Given the description of an element on the screen output the (x, y) to click on. 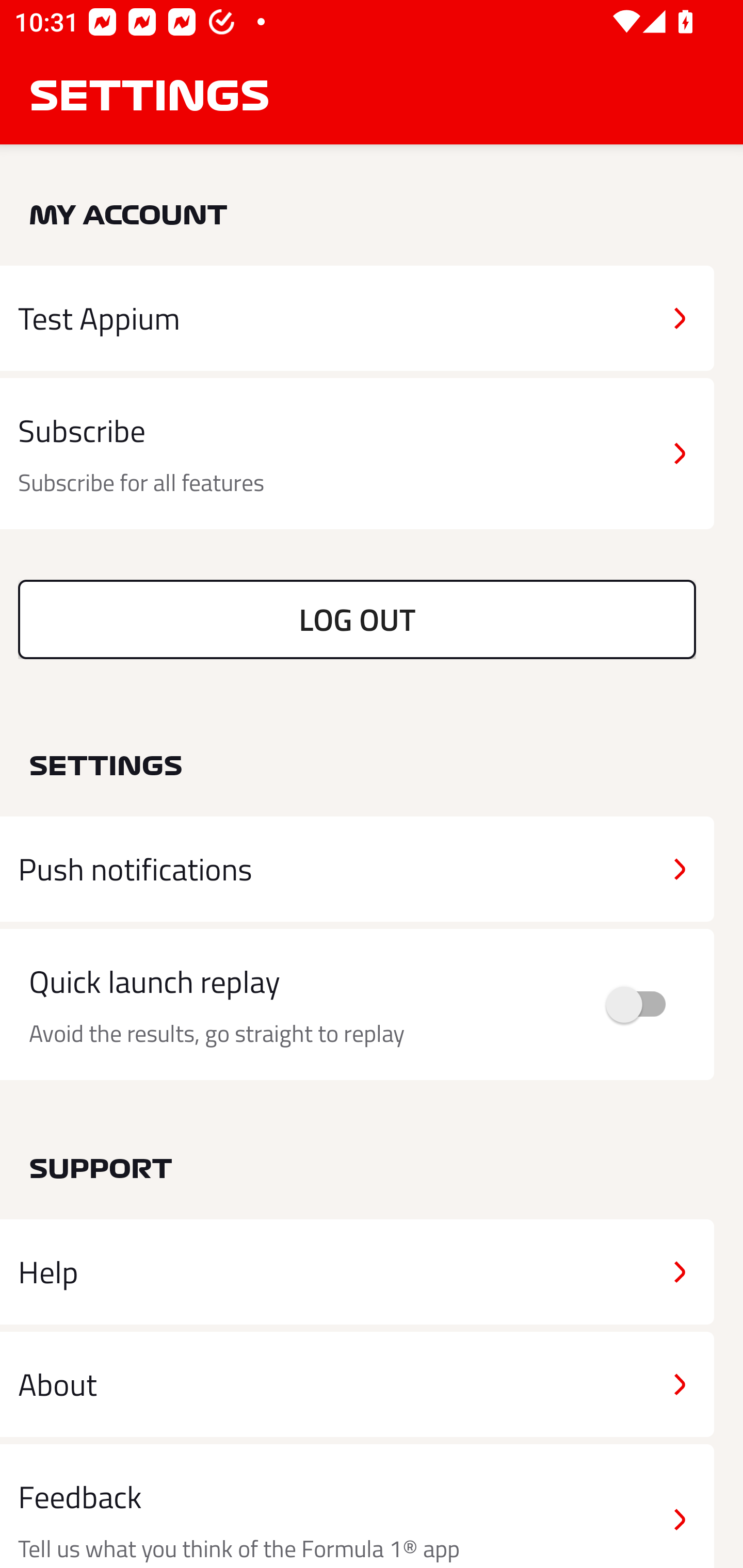
Test Appium (357, 317)
Subscribe Subscribe for all features (357, 453)
LOG OUT (356, 619)
Push notifications (357, 868)
Help (357, 1271)
About (357, 1383)
